Given the description of an element on the screen output the (x, y) to click on. 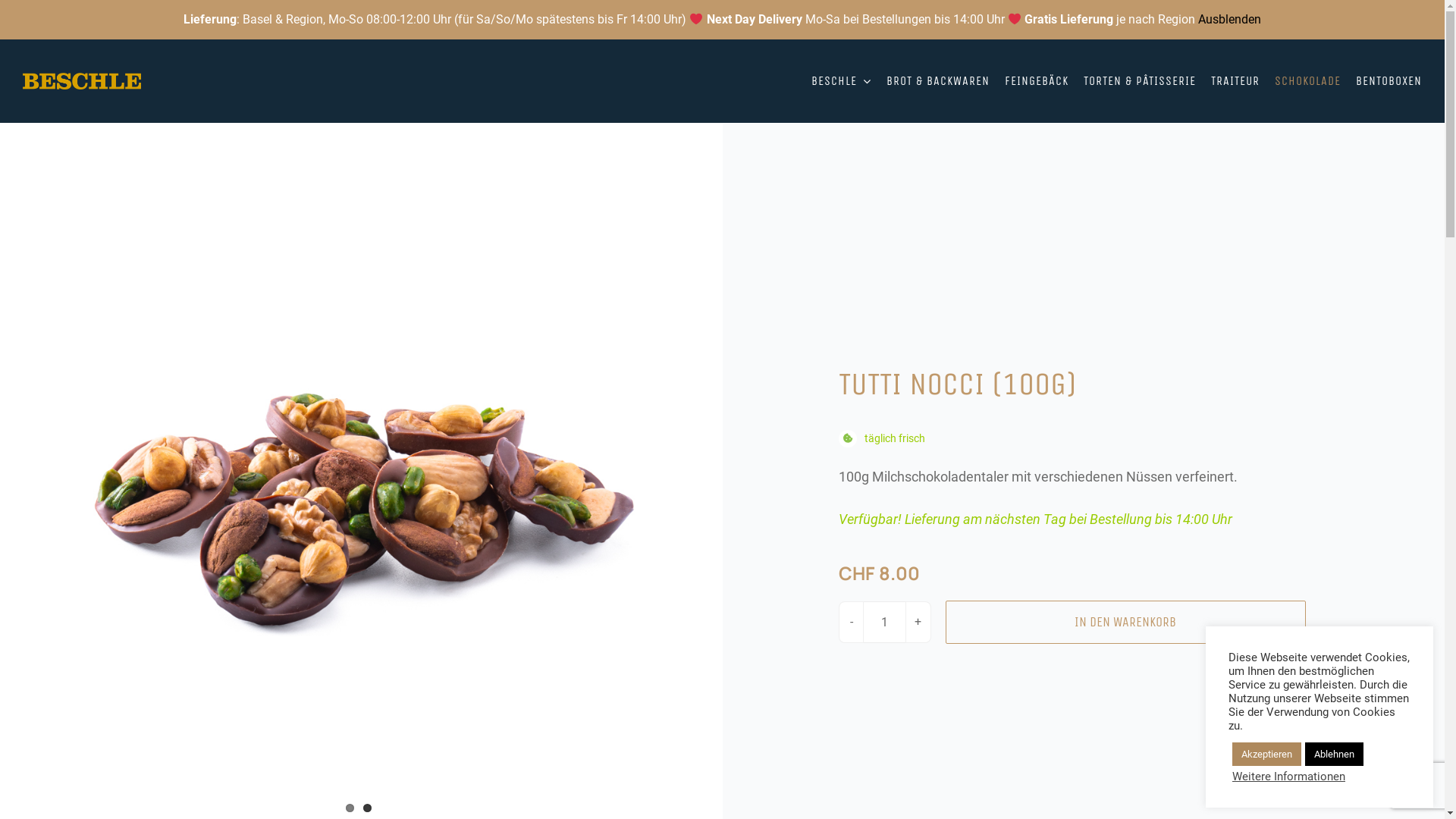
2 Element type: text (367, 807)
Lieferbedingungen Element type: text (183, 19)
BESCHLE Element type: text (841, 80)
Standorte Element type: text (110, 19)
Ablehnen Element type: text (1334, 753)
Kontakt Element type: text (252, 19)
1 Element type: text (349, 807)
Ausblenden Element type: text (1229, 19)
+41 61 295 40 40 Element type: text (332, 19)
TRAITEUR Element type: text (1235, 80)
Mein Konto Element type: text (1388, 19)
Akzeptieren Element type: text (1266, 753)
SCHOKOLADE Element type: text (1307, 80)
IN DEN WARENKORB Element type: text (1125, 621)
BROT & BACKWAREN Element type: text (937, 80)
BENTOBOXEN Element type: text (1388, 80)
Weitere Informationen Element type: text (1288, 776)
Anmelden Element type: text (1331, 180)
Warenkorb Element type: text (1300, 19)
Beschle Club Element type: text (48, 19)
